Given the description of an element on the screen output the (x, y) to click on. 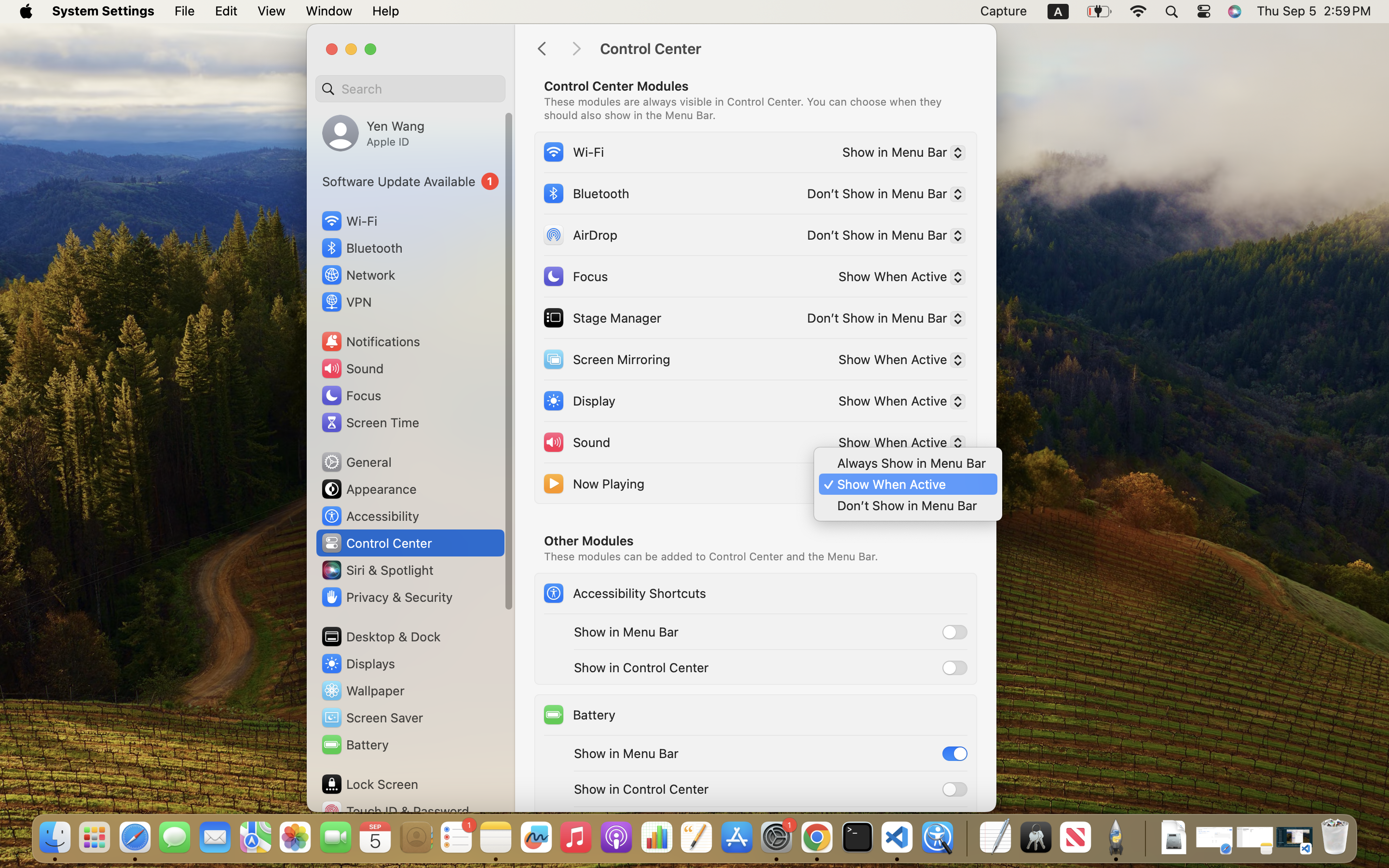
Focus Element type: AXStaticText (574, 275)
